Given the description of an element on the screen output the (x, y) to click on. 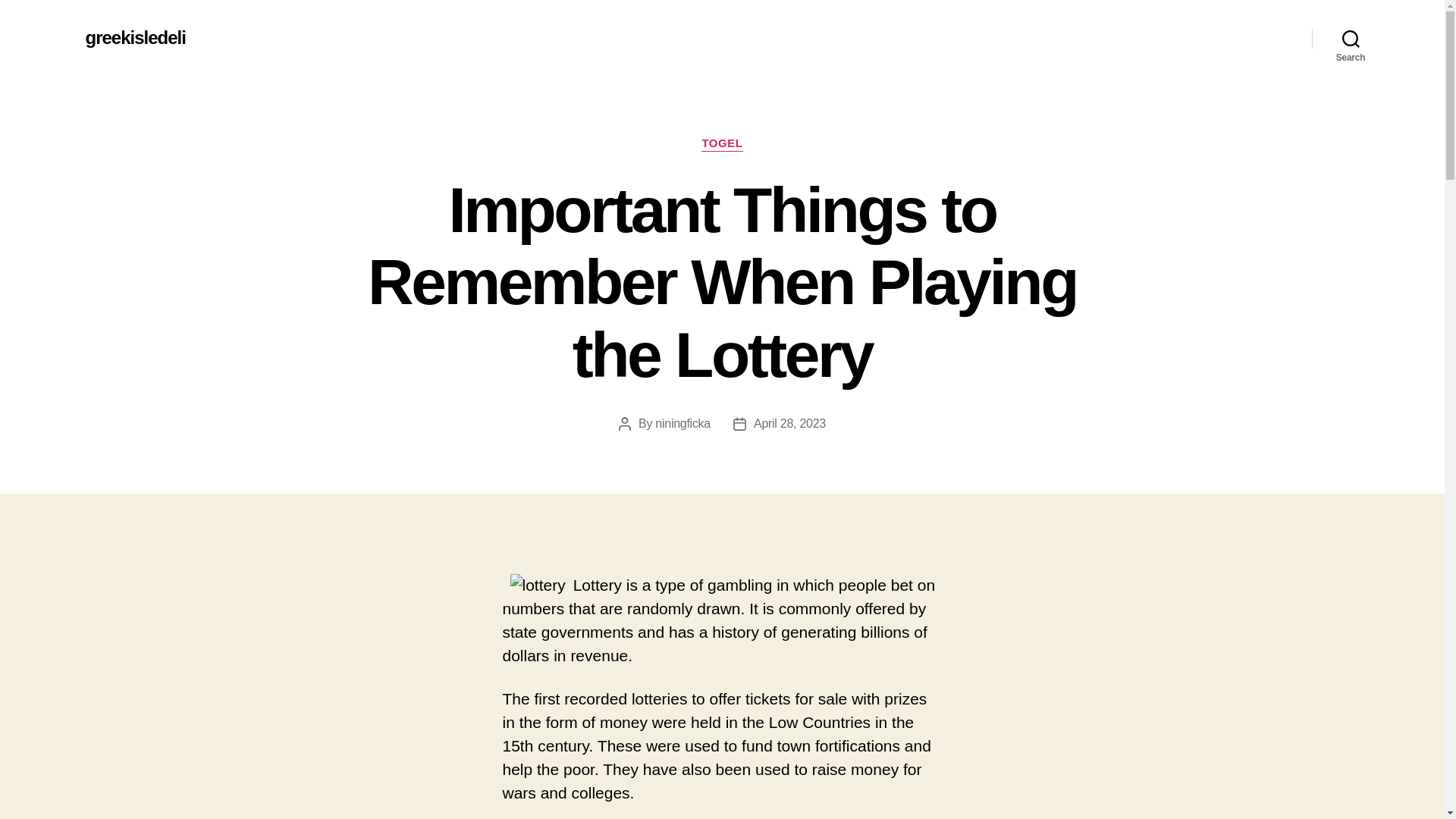
April 28, 2023 (789, 422)
niningficka (682, 422)
greekisledeli (134, 37)
TOGEL (721, 143)
Search (1350, 37)
